Given the description of an element on the screen output the (x, y) to click on. 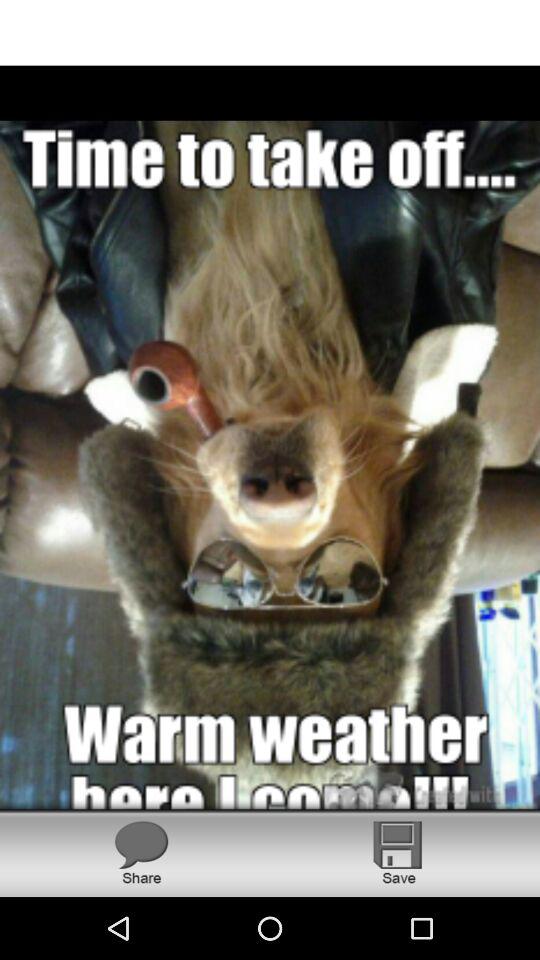
share this image (141, 852)
